Given the description of an element on the screen output the (x, y) to click on. 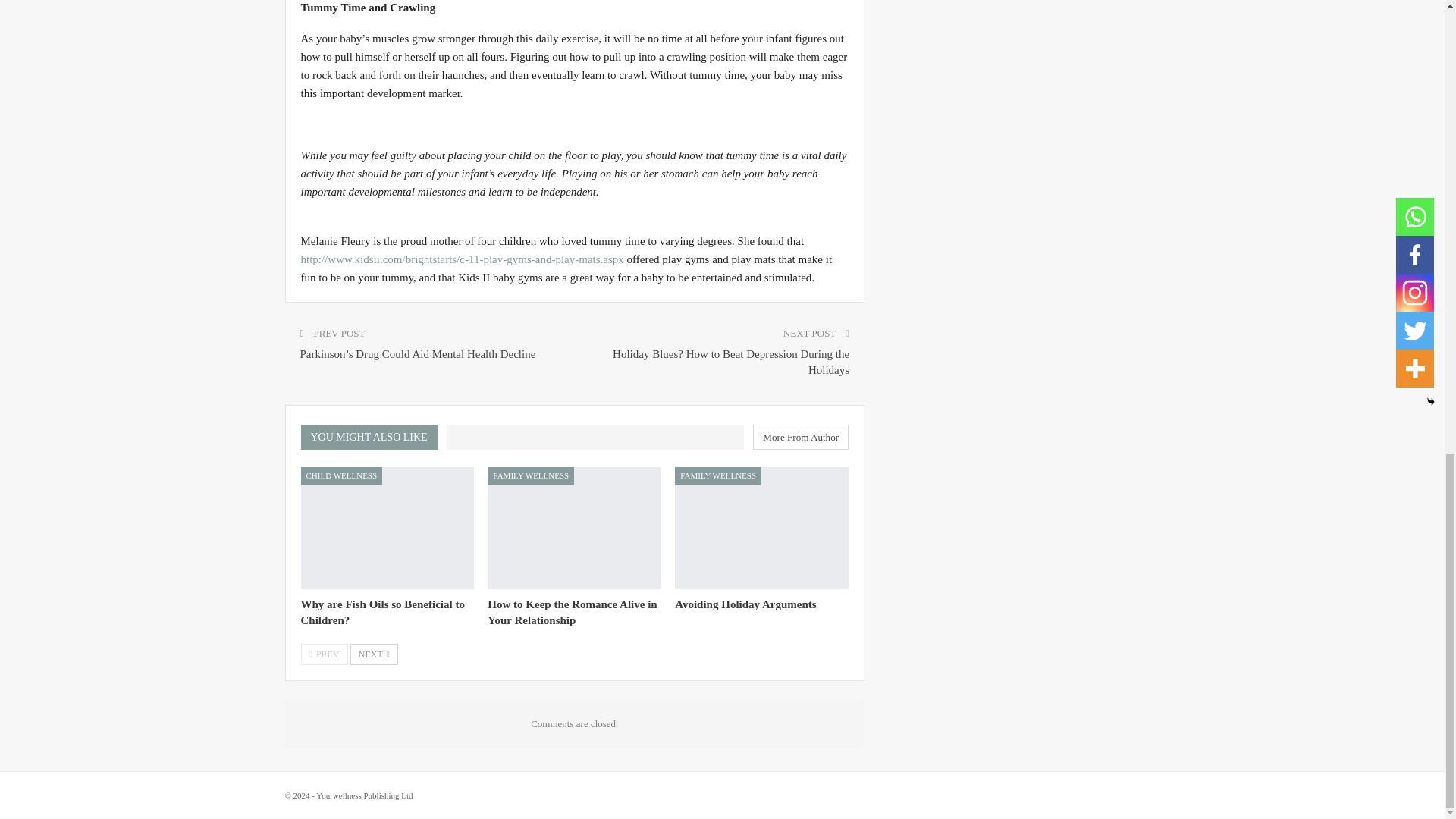
Holiday Blues? How to Beat Depression During the Holidays (730, 361)
How to Keep the Romance Alive in Your Relationship (571, 612)
Avoiding Holiday Arguments (745, 604)
YOU MIGHT ALSO LIKE (372, 436)
Avoiding Holiday Arguments (761, 527)
Why are Fish Oils so Beneficial to Children? (386, 527)
Previous (323, 654)
Why are Fish Oils so Beneficial to Children? (381, 612)
How to Keep the Romance Alive in Your Relationship (574, 527)
